Given the description of an element on the screen output the (x, y) to click on. 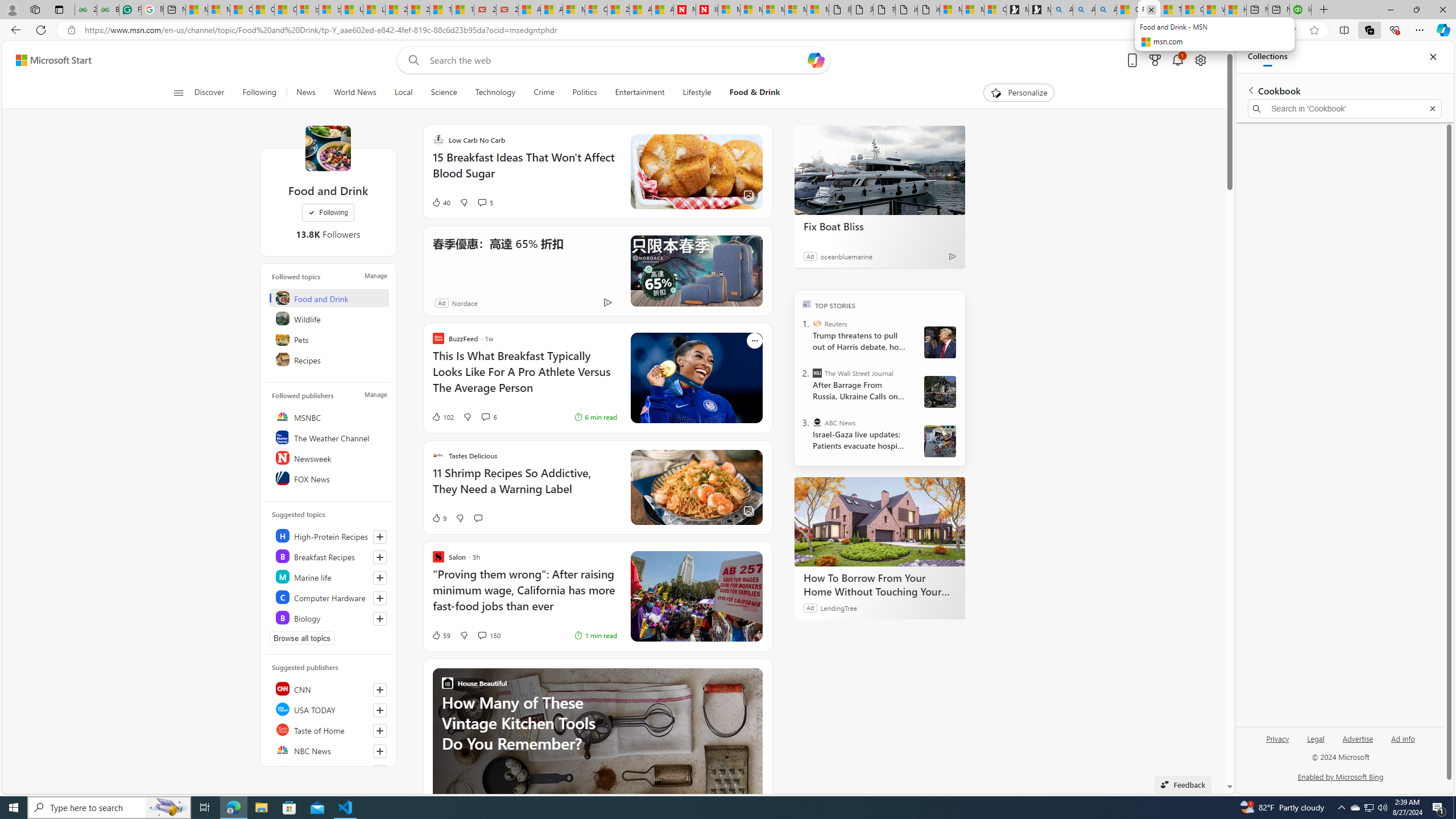
Lifestyle - MSN (374, 9)
Reuters (328, 770)
NBC News (328, 750)
